Given the description of an element on the screen output the (x, y) to click on. 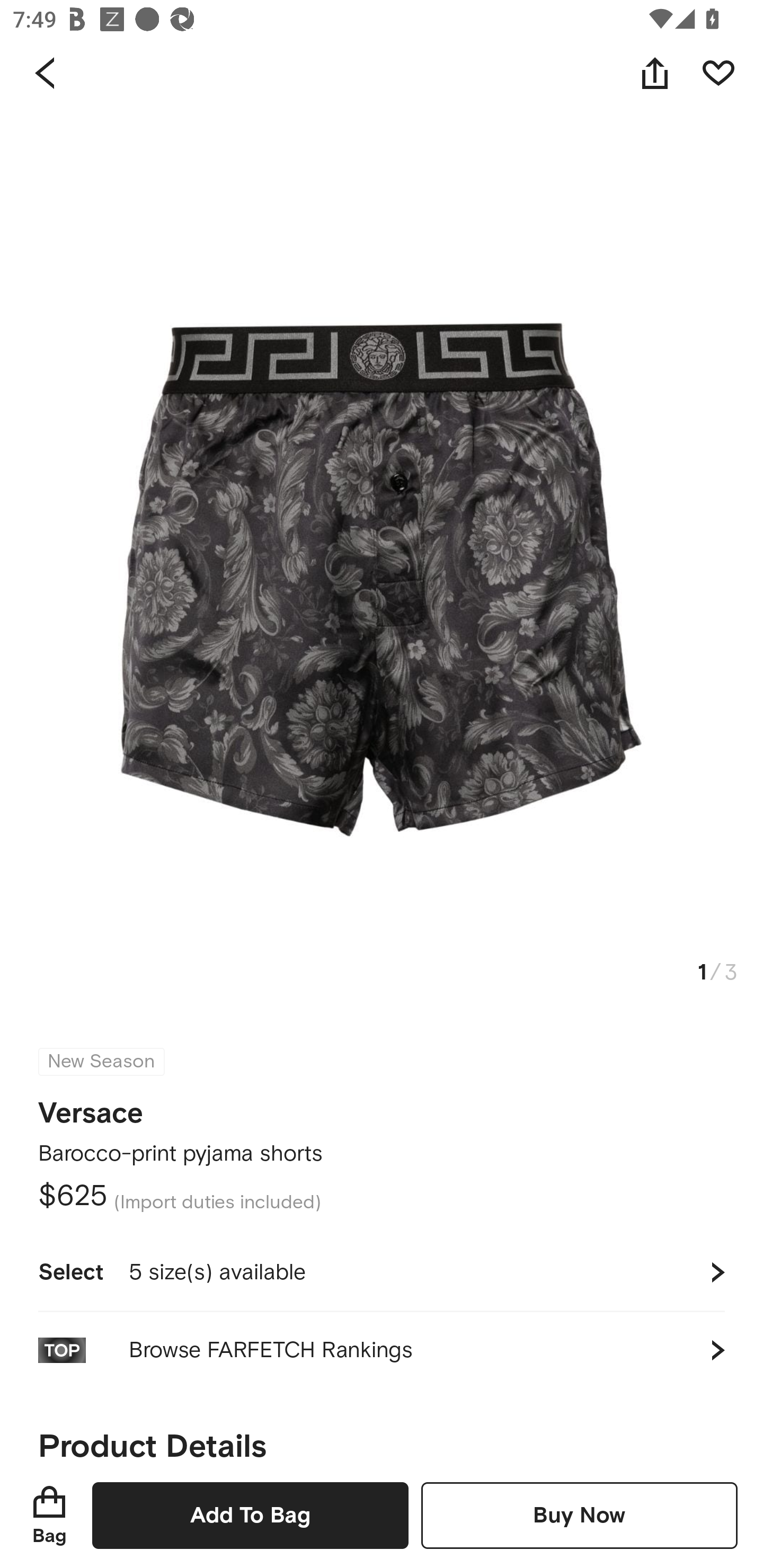
Versace (90, 1107)
Select 5 size(s) available (381, 1272)
Browse FARFETCH Rankings (381, 1349)
Bag (49, 1515)
Add To Bag (250, 1515)
Buy Now (579, 1515)
